Given the description of an element on the screen output the (x, y) to click on. 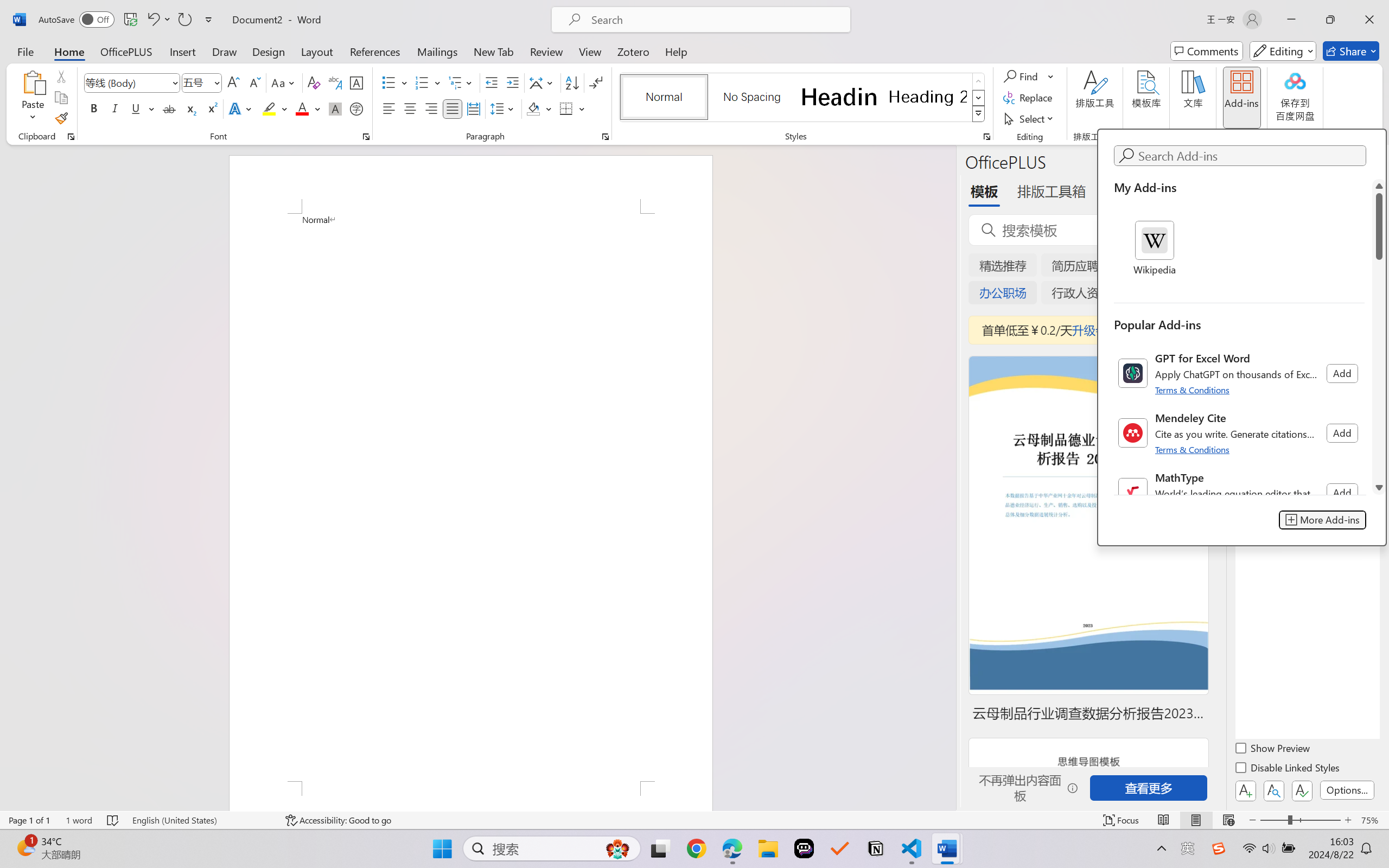
Zoom 214% (1364, 837)
Clear Recording (224, 62)
Keep accessibility checker running while I work (1291, 479)
Audio (184, 62)
